Given the description of an element on the screen output the (x, y) to click on. 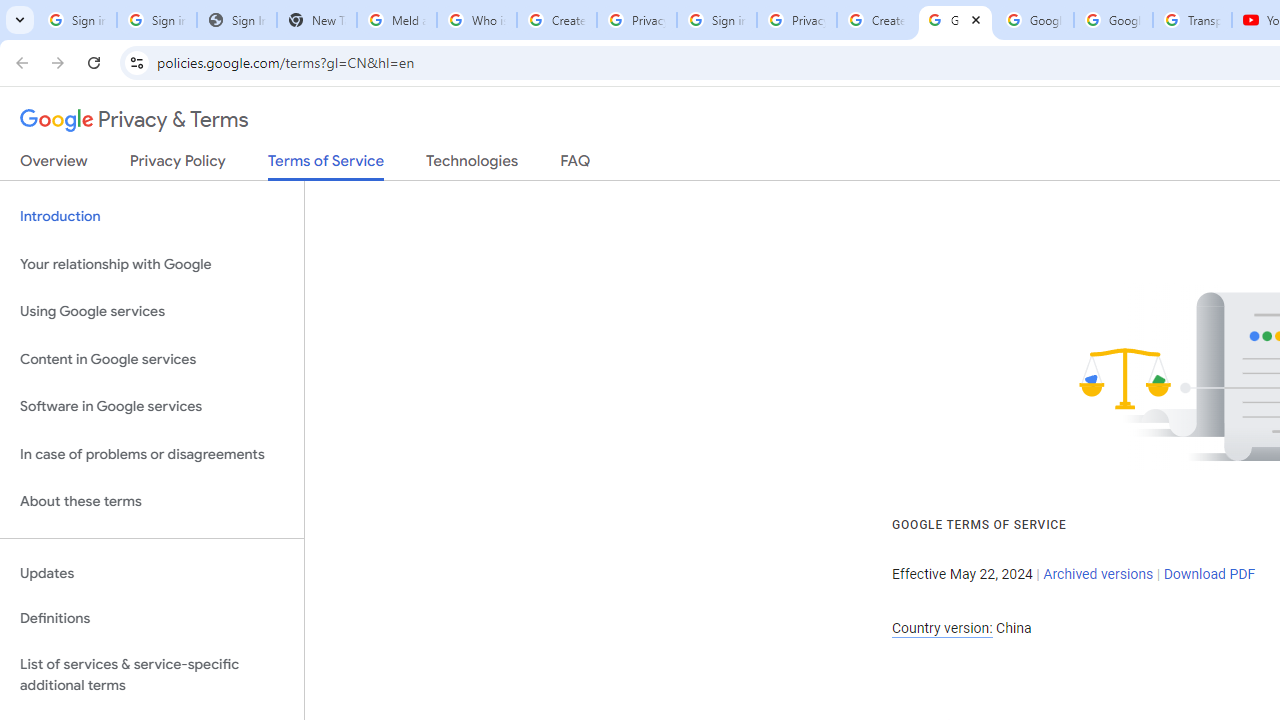
Using Google services (152, 312)
In case of problems or disagreements (152, 453)
Definitions (152, 619)
Country version: (942, 628)
Sign in - Google Accounts (716, 20)
Terms of Service (326, 166)
Create your Google Account (876, 20)
Your relationship with Google (152, 263)
